Given the description of an element on the screen output the (x, y) to click on. 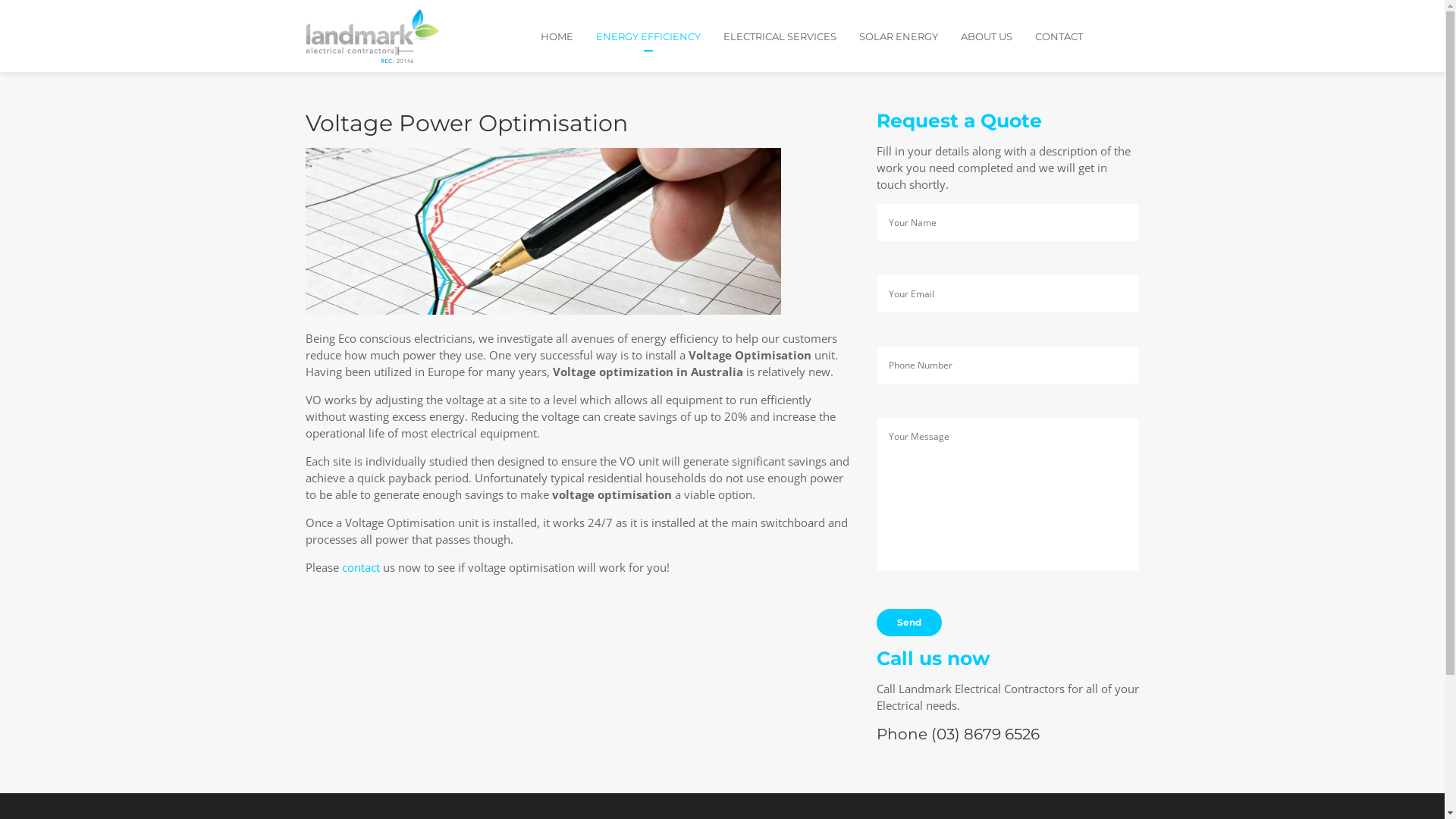
ENERGY EFFICIENCY Element type: text (659, 36)
contact Element type: text (360, 566)
ELECTRICAL SERVICES Element type: text (791, 36)
SOLAR ENERGY Element type: text (909, 36)
HOME Element type: text (568, 36)
CONTACT Element type: text (1058, 36)
ABOUT US Element type: text (997, 36)
Send Element type: text (908, 622)
Voltage Optimisation Element type: hover (542, 230)
